Given the description of an element on the screen output the (x, y) to click on. 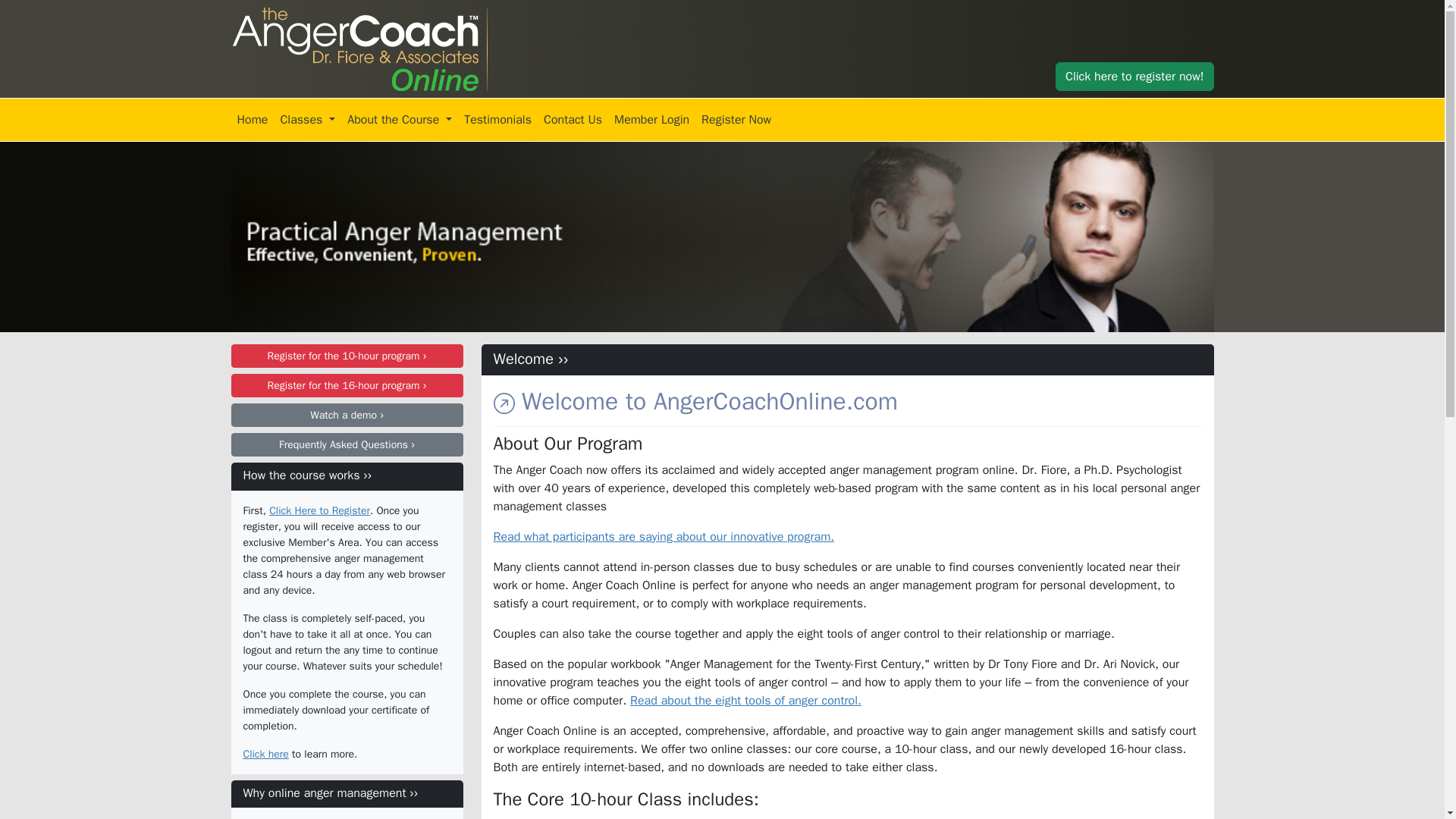
About the Course (399, 119)
Read about the eight tools of anger control. (745, 700)
Classes (306, 119)
Home (251, 119)
Click here (265, 753)
Testimonials (497, 119)
Member Login (651, 119)
Detailed instructions (571, 818)
Contact Us (572, 119)
Click here to register now! (1133, 76)
